Given the description of an element on the screen output the (x, y) to click on. 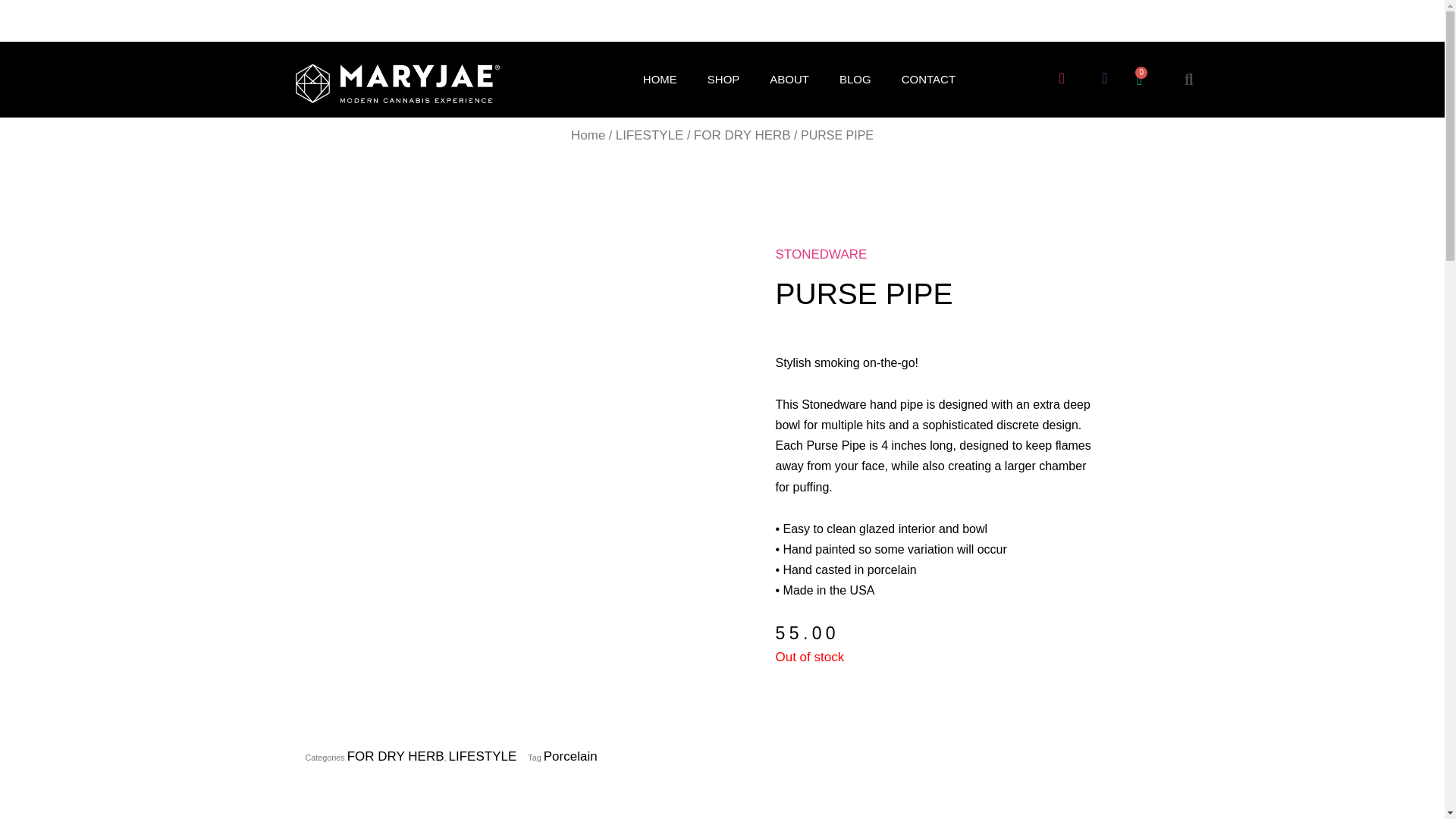
ABOUT (789, 79)
CONTACT (928, 79)
View brand (820, 254)
